Given the description of an element on the screen output the (x, y) to click on. 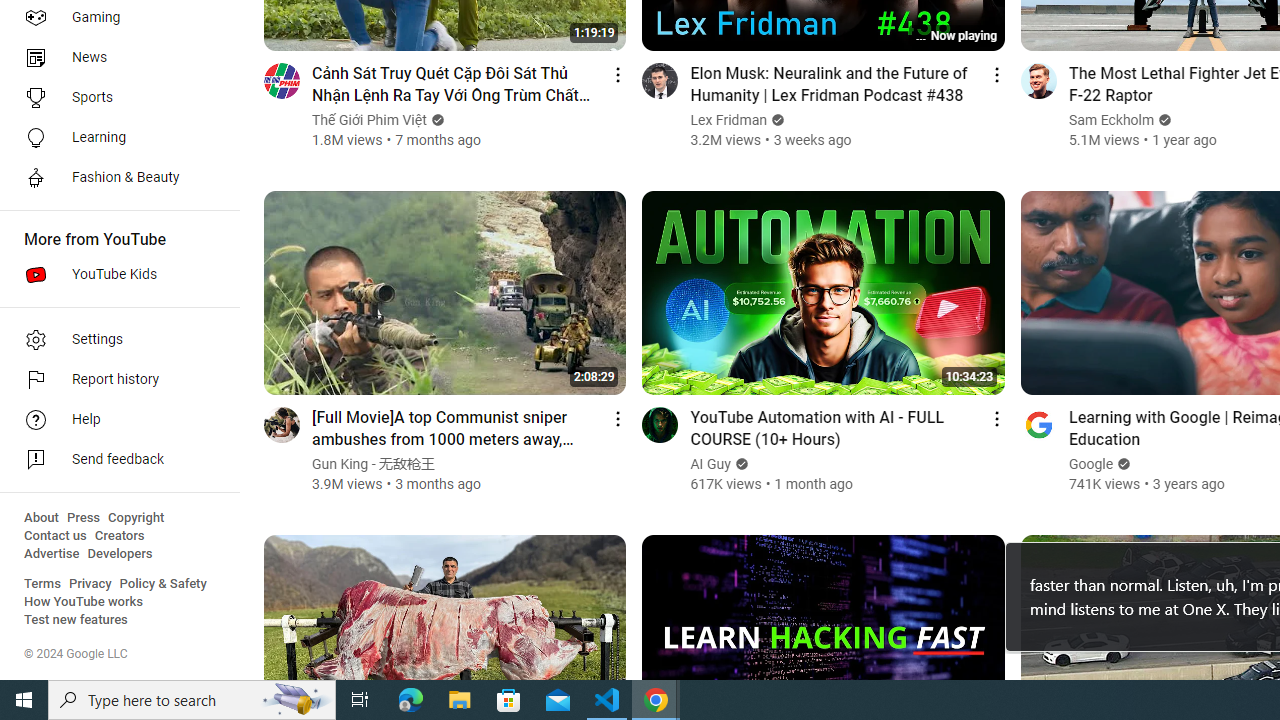
About (41, 518)
Privacy (89, 584)
Test new features (76, 620)
Settings (113, 339)
Advertise (51, 554)
Sam Eckholm (1111, 120)
How YouTube works (83, 602)
Help (113, 419)
Fashion & Beauty (113, 177)
AI Guy (711, 464)
Send feedback (113, 459)
Press (83, 518)
Sports (113, 97)
Developers (120, 554)
Go to channel (1038, 424)
